Given the description of an element on the screen output the (x, y) to click on. 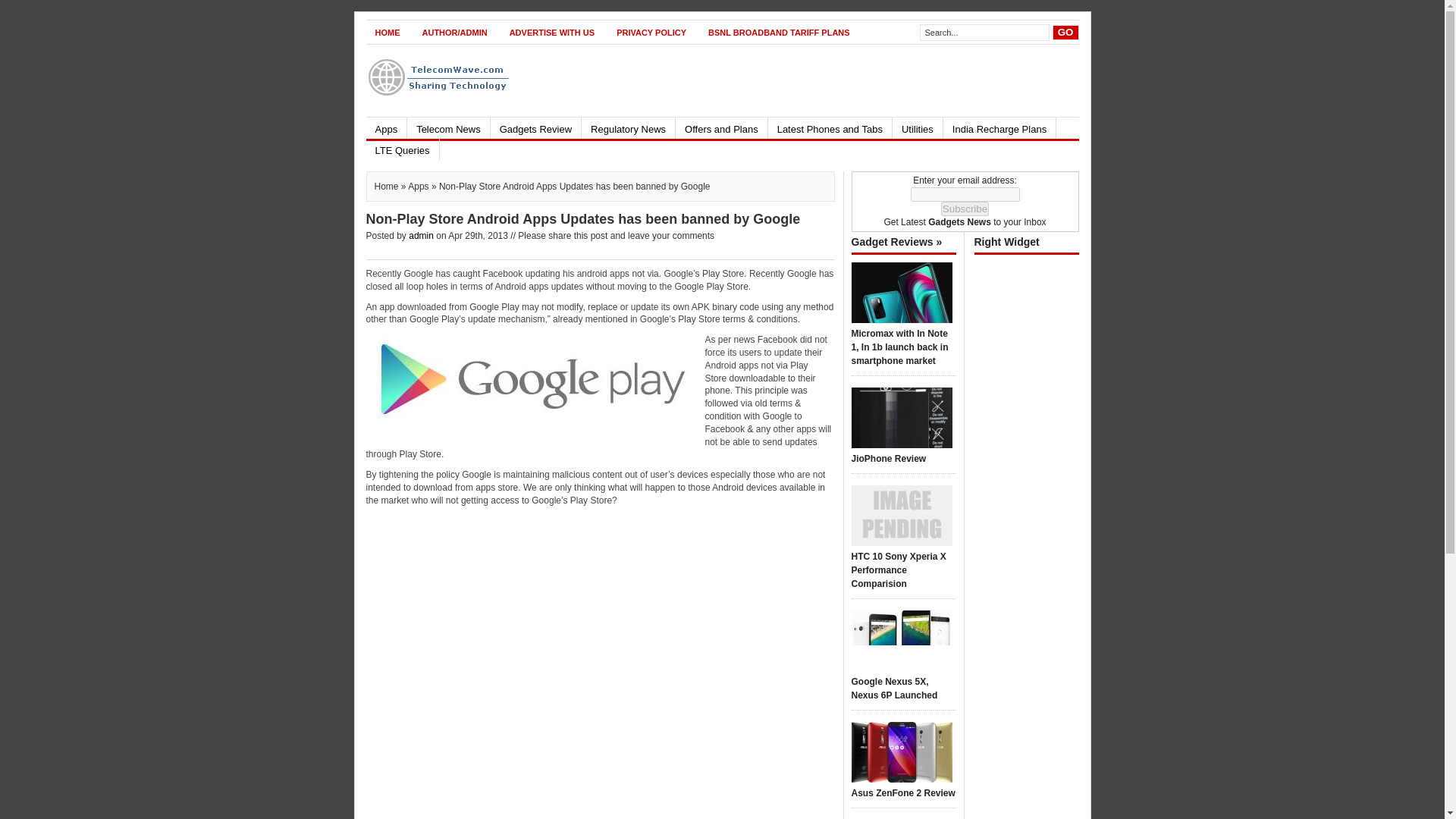
BSNL BROADBAND TARIFF PLANS (778, 31)
PRIVACY POLICY (651, 31)
Offers and Plans (721, 127)
google-play-logo (531, 381)
GO (1065, 32)
HOME (387, 31)
Telecom News (448, 127)
Subscribe (964, 208)
Apps (385, 127)
Latest Phones and Tabs (829, 127)
